Given the description of an element on the screen output the (x, y) to click on. 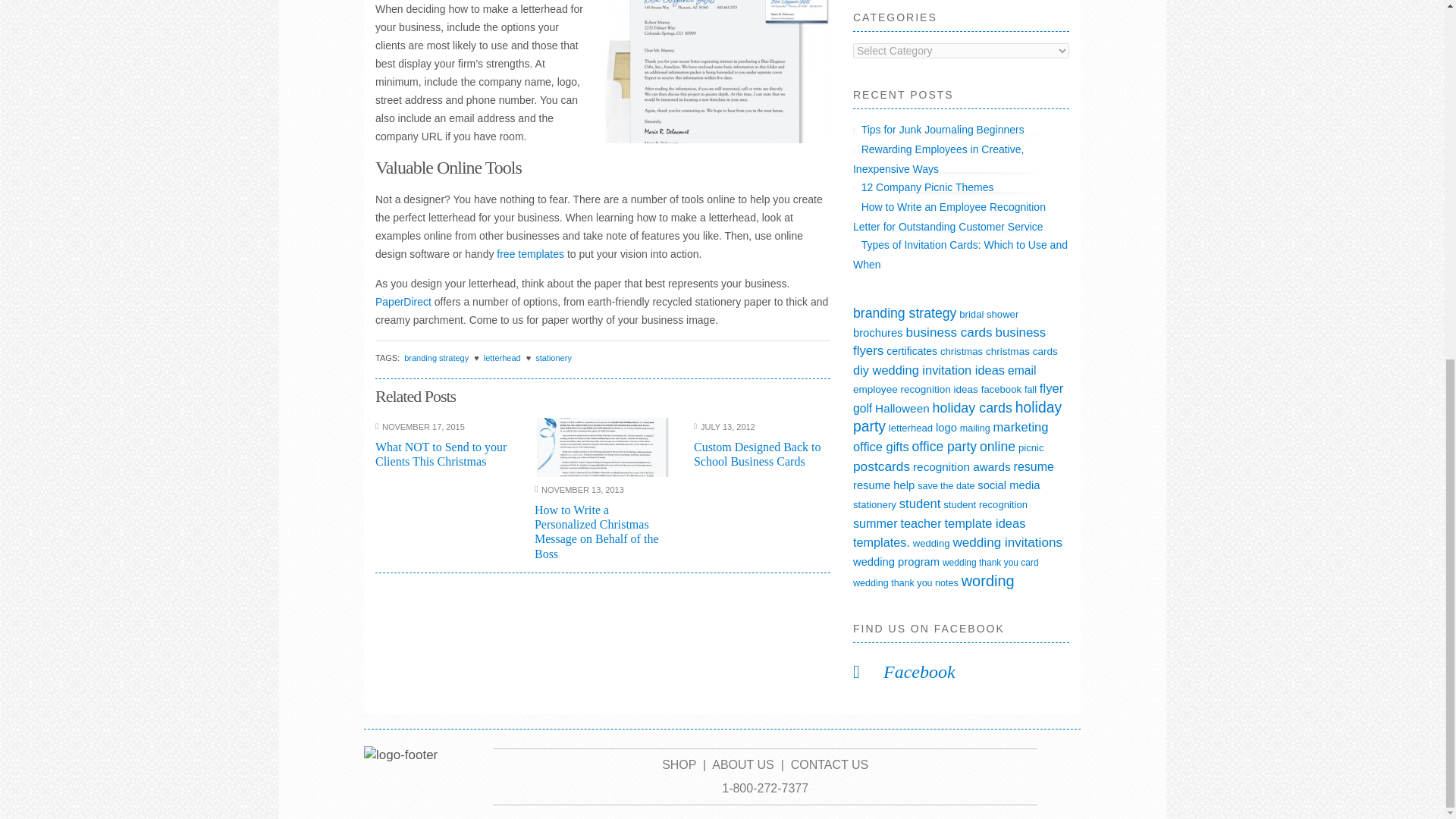
About Us (742, 764)
Contact Us (829, 764)
